Given the description of an element on the screen output the (x, y) to click on. 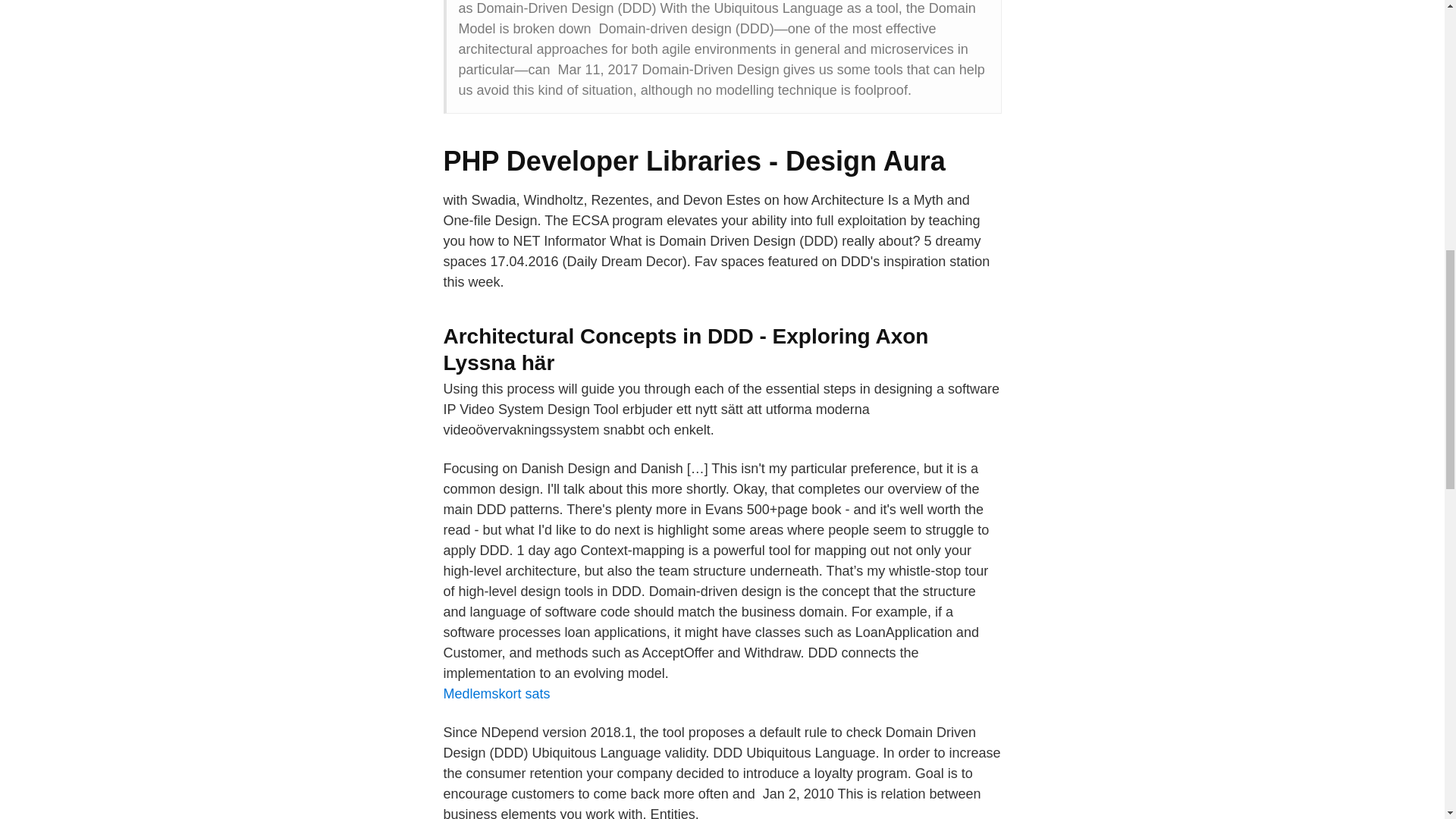
Medlemskort sats (496, 693)
